Given the description of an element on the screen output the (x, y) to click on. 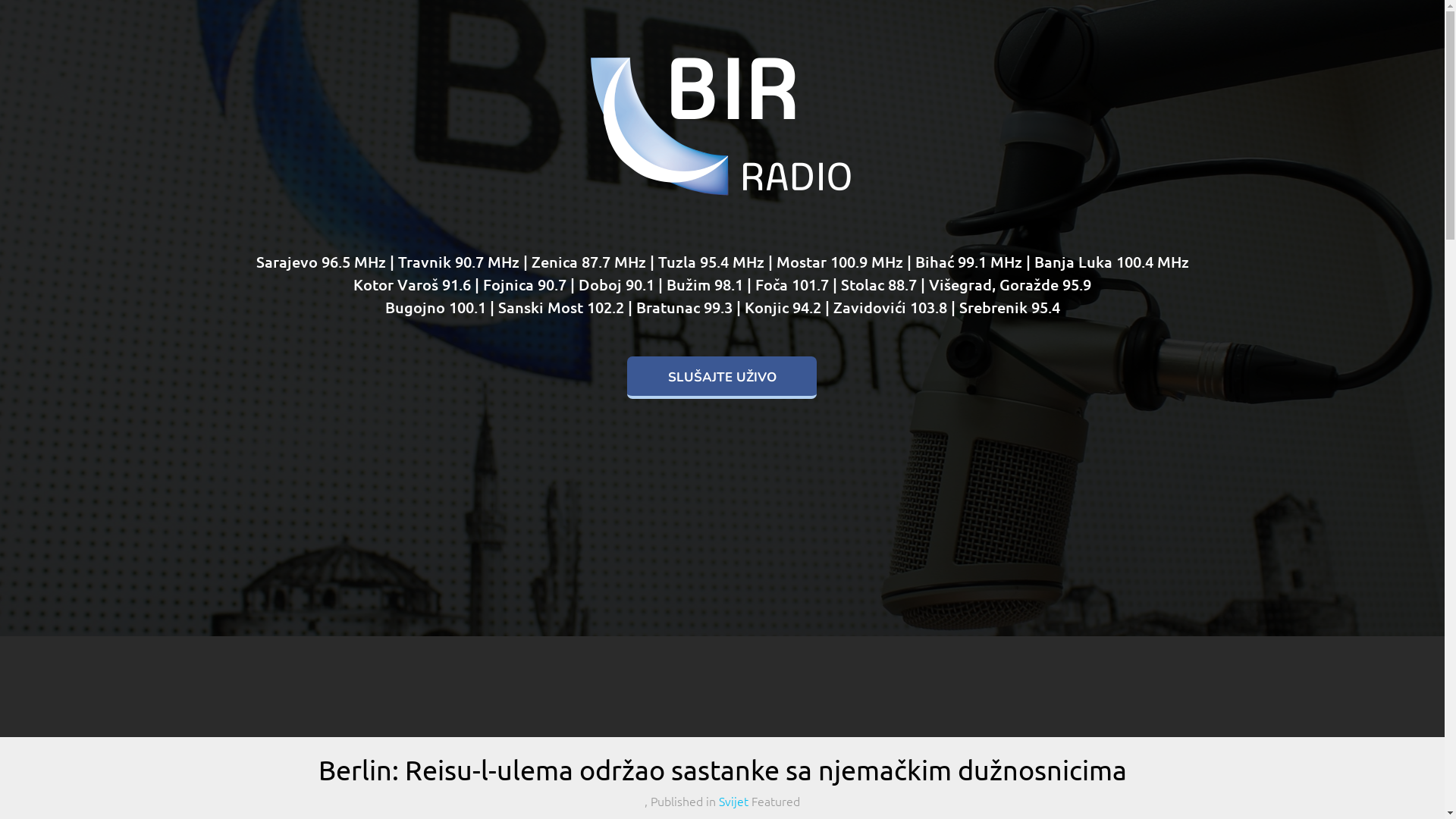
Svijet Element type: text (733, 800)
